Given the description of an element on the screen output the (x, y) to click on. 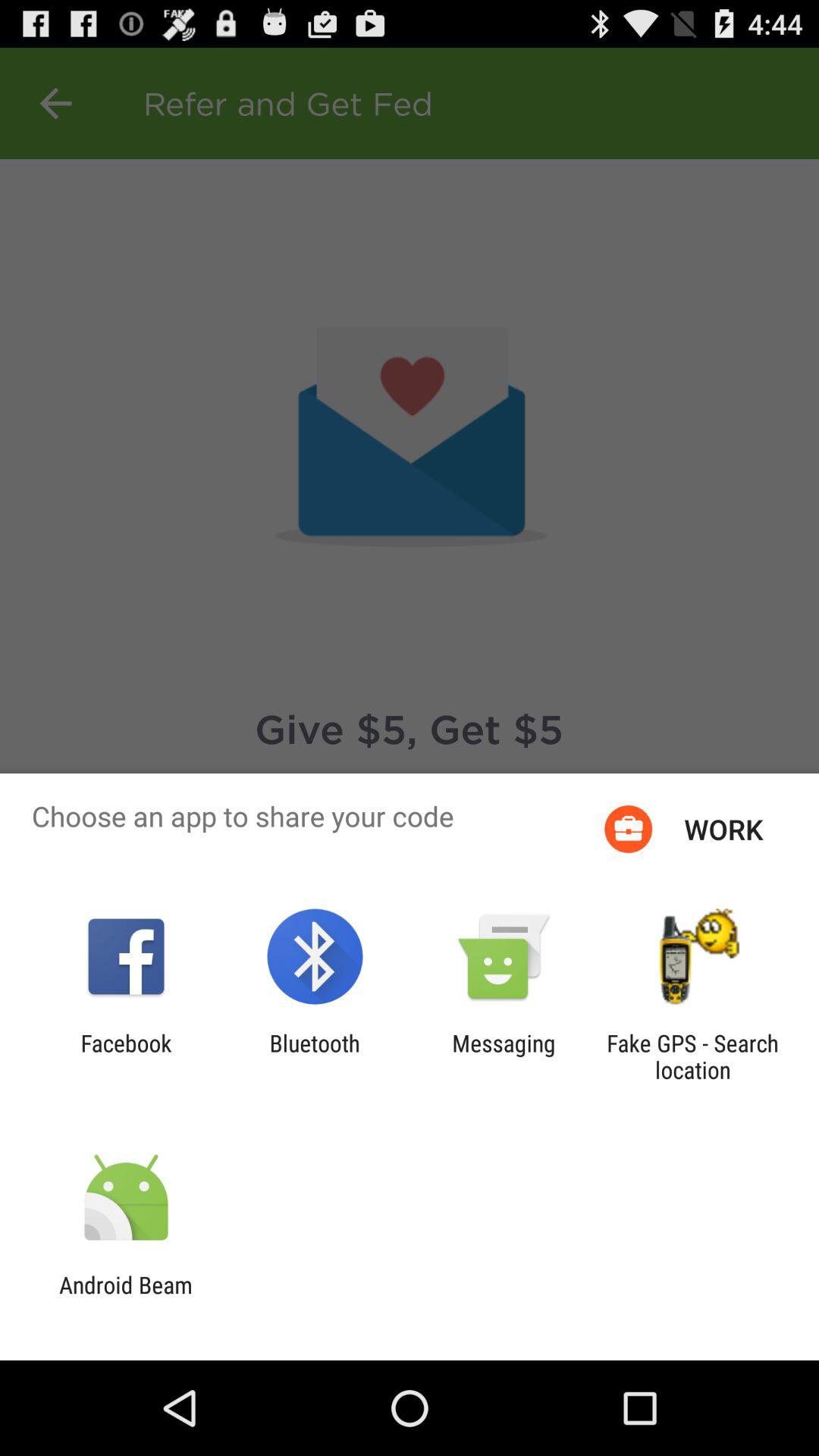
turn on the app to the left of fake gps search icon (503, 1056)
